Given the description of an element on the screen output the (x, y) to click on. 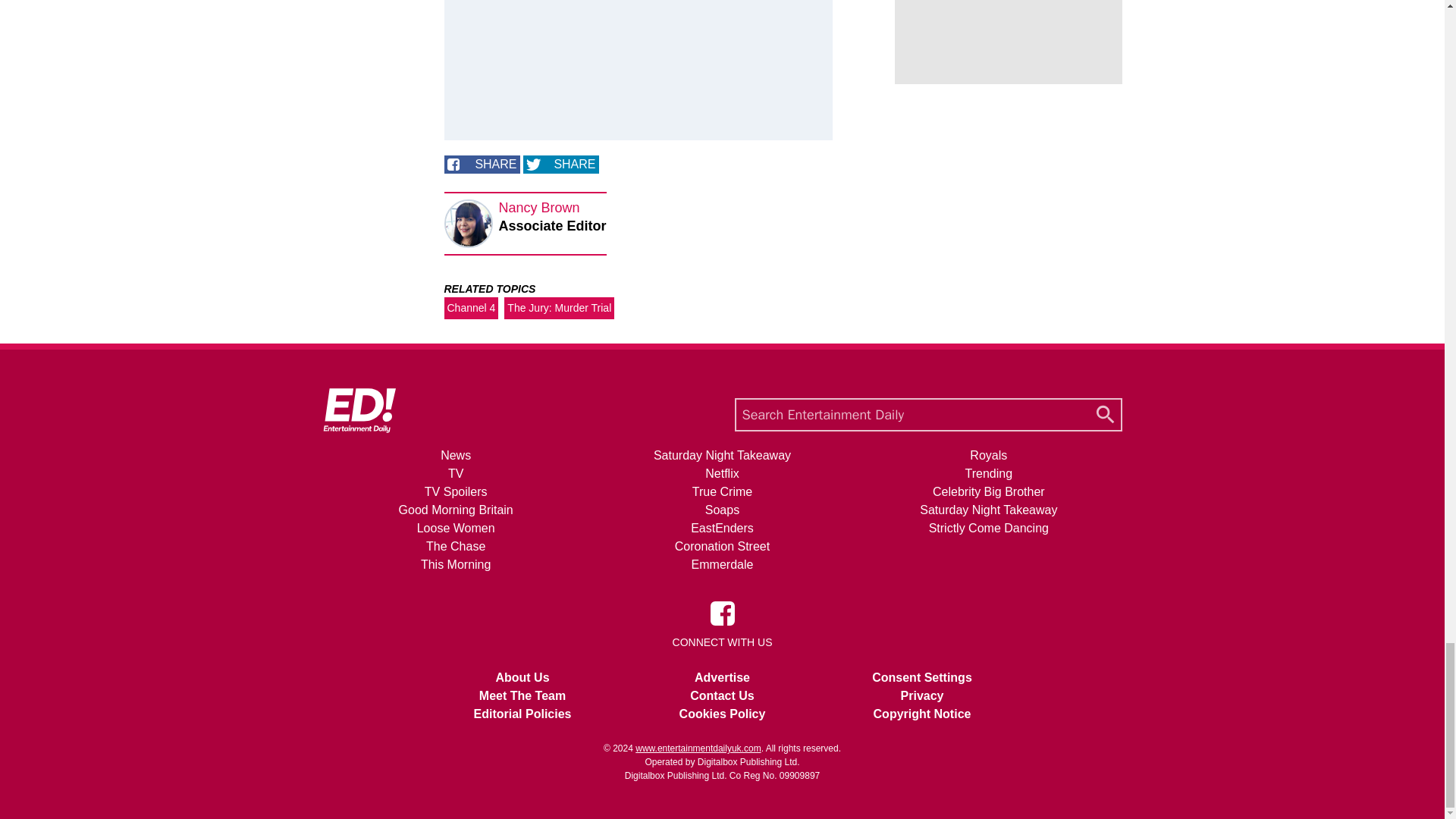
Nancy Brown (539, 207)
The Jury: Murder Trial (558, 308)
SHARE (560, 164)
SHARE (481, 164)
Channel 4 (471, 308)
